Given the description of an element on the screen output the (x, y) to click on. 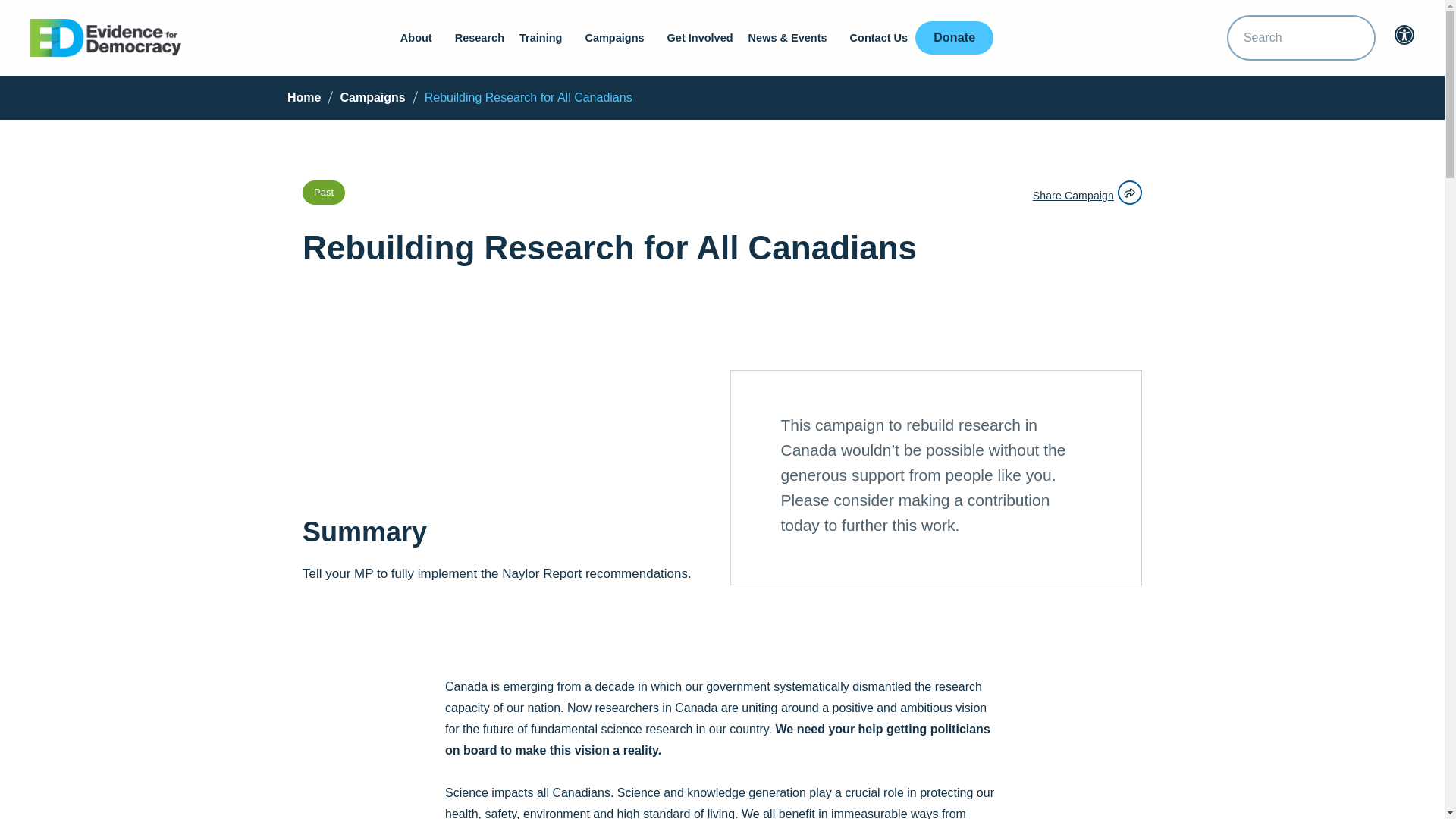
Campaigns (617, 37)
Donate (953, 37)
Contact Us (879, 37)
Get Involved (700, 37)
Research (479, 37)
About (419, 37)
Training (544, 37)
